Given the description of an element on the screen output the (x, y) to click on. 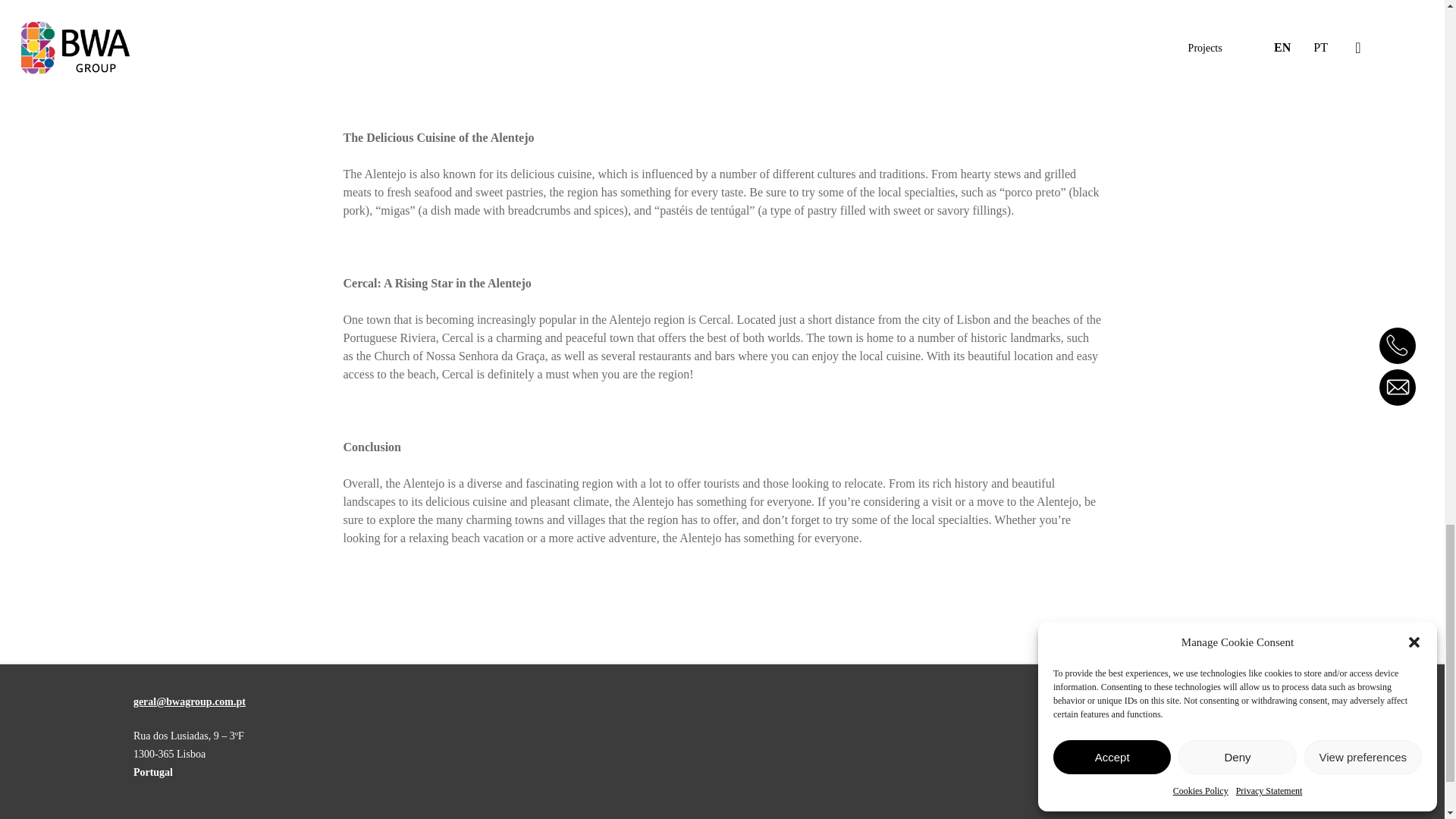
Data Privacy Policy (183, 817)
Careers (339, 817)
Cookie Settings (274, 817)
